Given the description of an element on the screen output the (x, y) to click on. 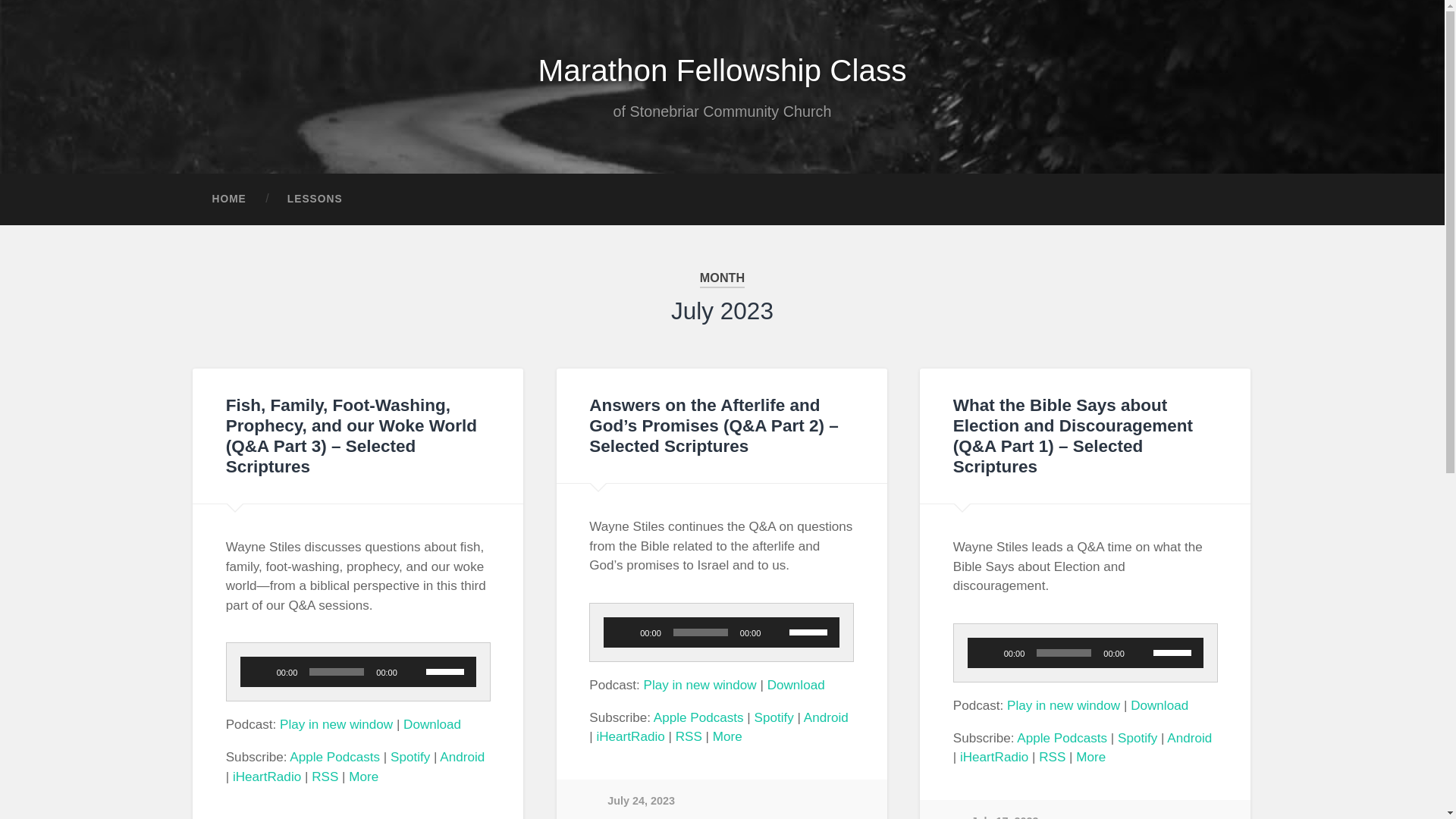
LESSONS (314, 199)
Download (432, 724)
iHeartRadio (266, 776)
Subscribe on Spotify (773, 717)
Mute (414, 671)
Marathon Fellowship Class (721, 70)
More (727, 736)
Subscribe on iHeartRadio (629, 736)
RSS (324, 776)
Subscribe on iHeartRadio (266, 776)
